Given the description of an element on the screen output the (x, y) to click on. 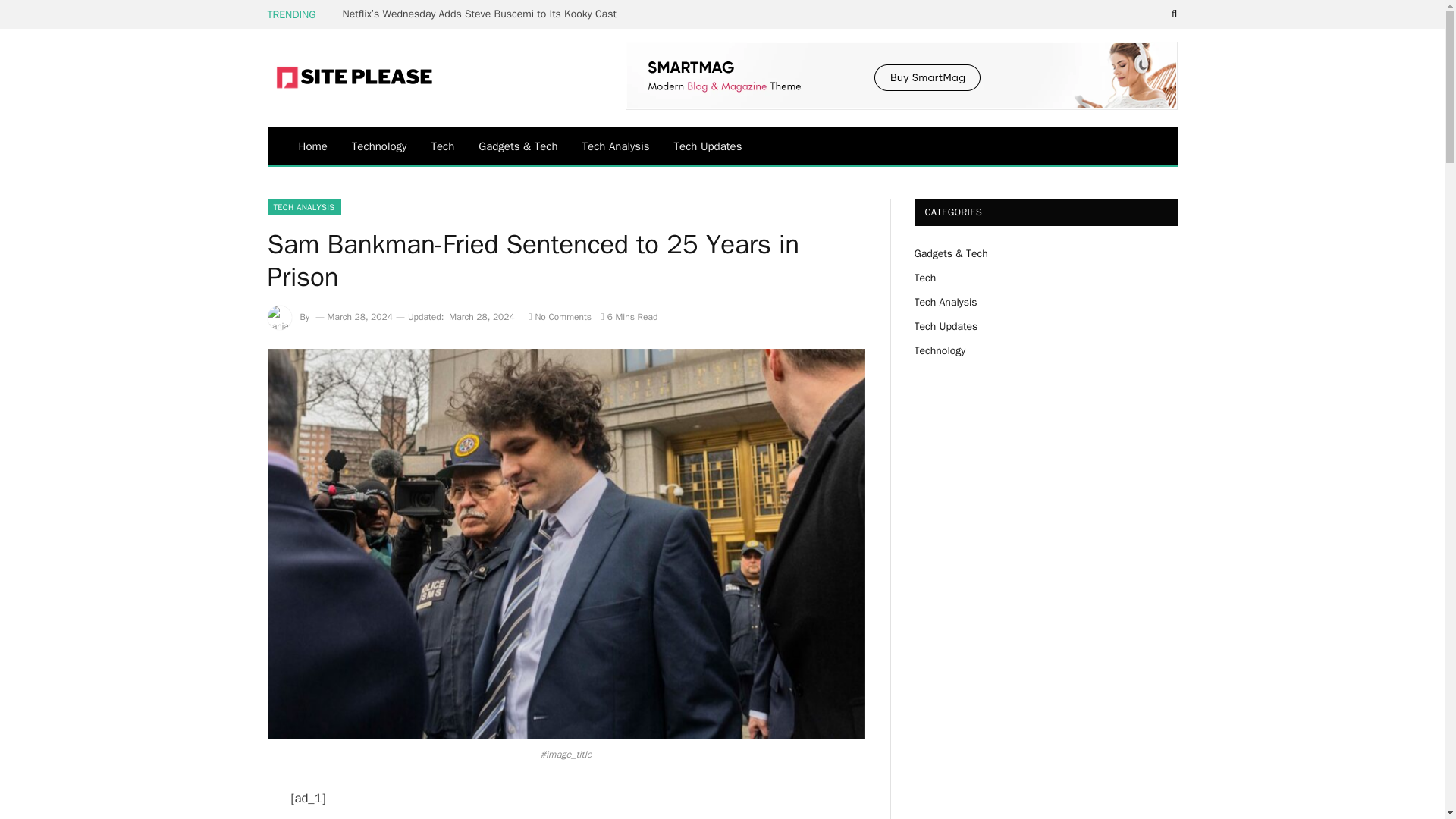
Tech (442, 146)
Tech Updates (708, 146)
Technology (379, 146)
TECH ANALYSIS (303, 207)
Home (312, 146)
No Comments (559, 316)
Tech Analysis (616, 146)
